Given the description of an element on the screen output the (x, y) to click on. 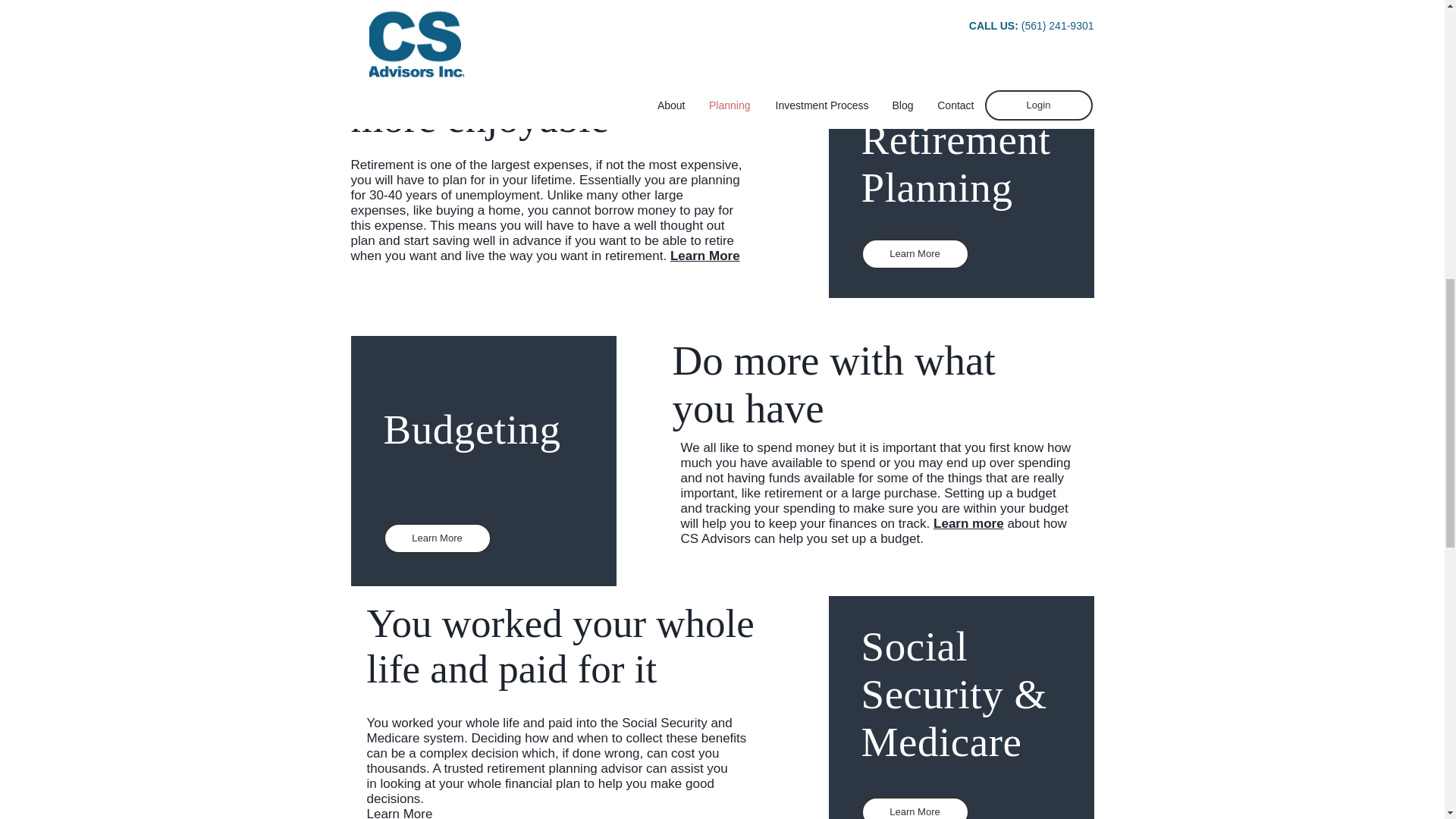
Learn More (915, 807)
Learn More (399, 812)
Learn more (968, 523)
Learn More (438, 538)
Learn More (915, 254)
Learn More (704, 255)
